Given the description of an element on the screen output the (x, y) to click on. 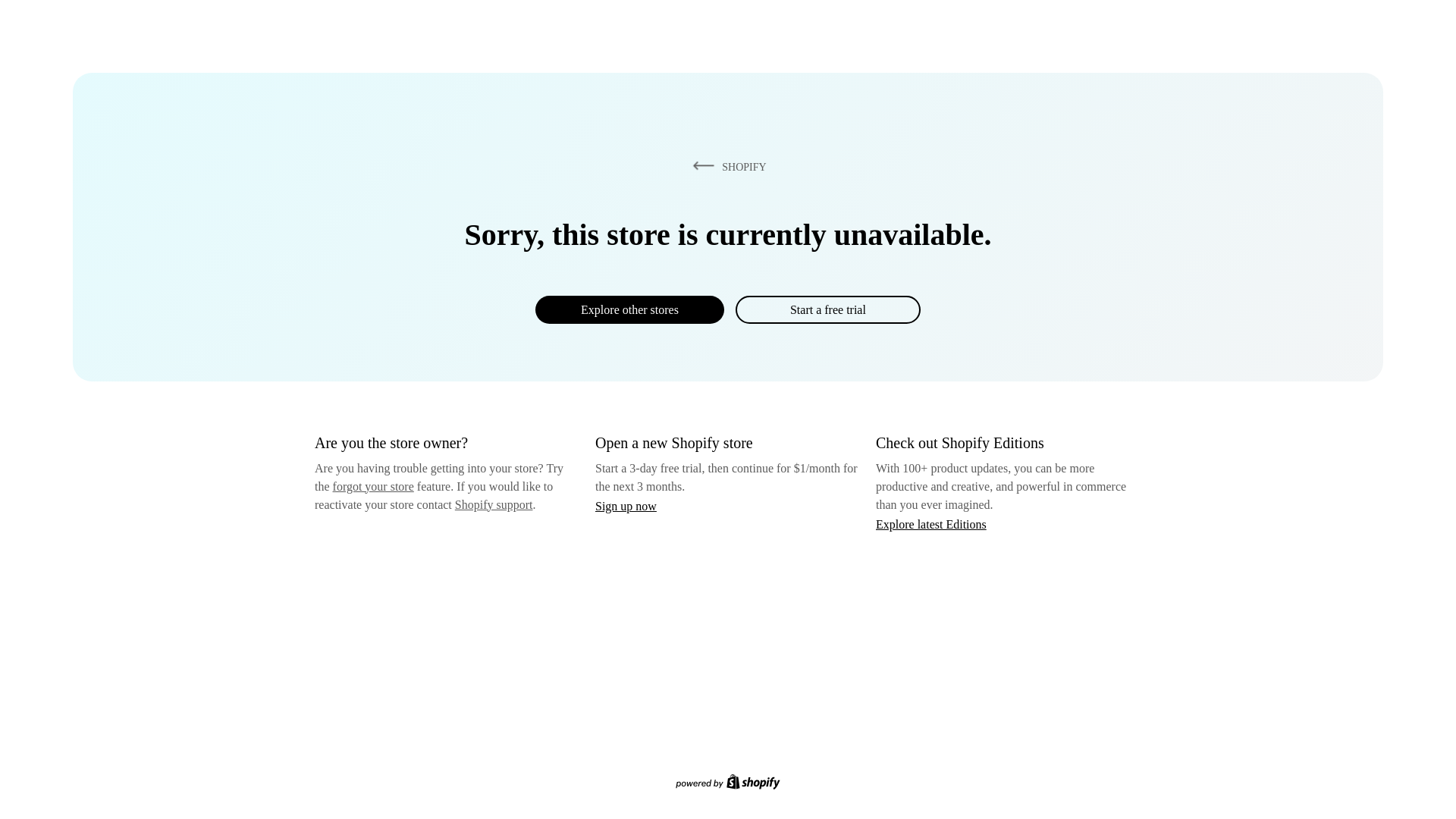
Explore other stores (629, 309)
Shopify support (493, 504)
SHOPIFY (726, 166)
forgot your store (373, 486)
Explore latest Editions (931, 523)
Sign up now (625, 505)
Start a free trial (827, 309)
